Given the description of an element on the screen output the (x, y) to click on. 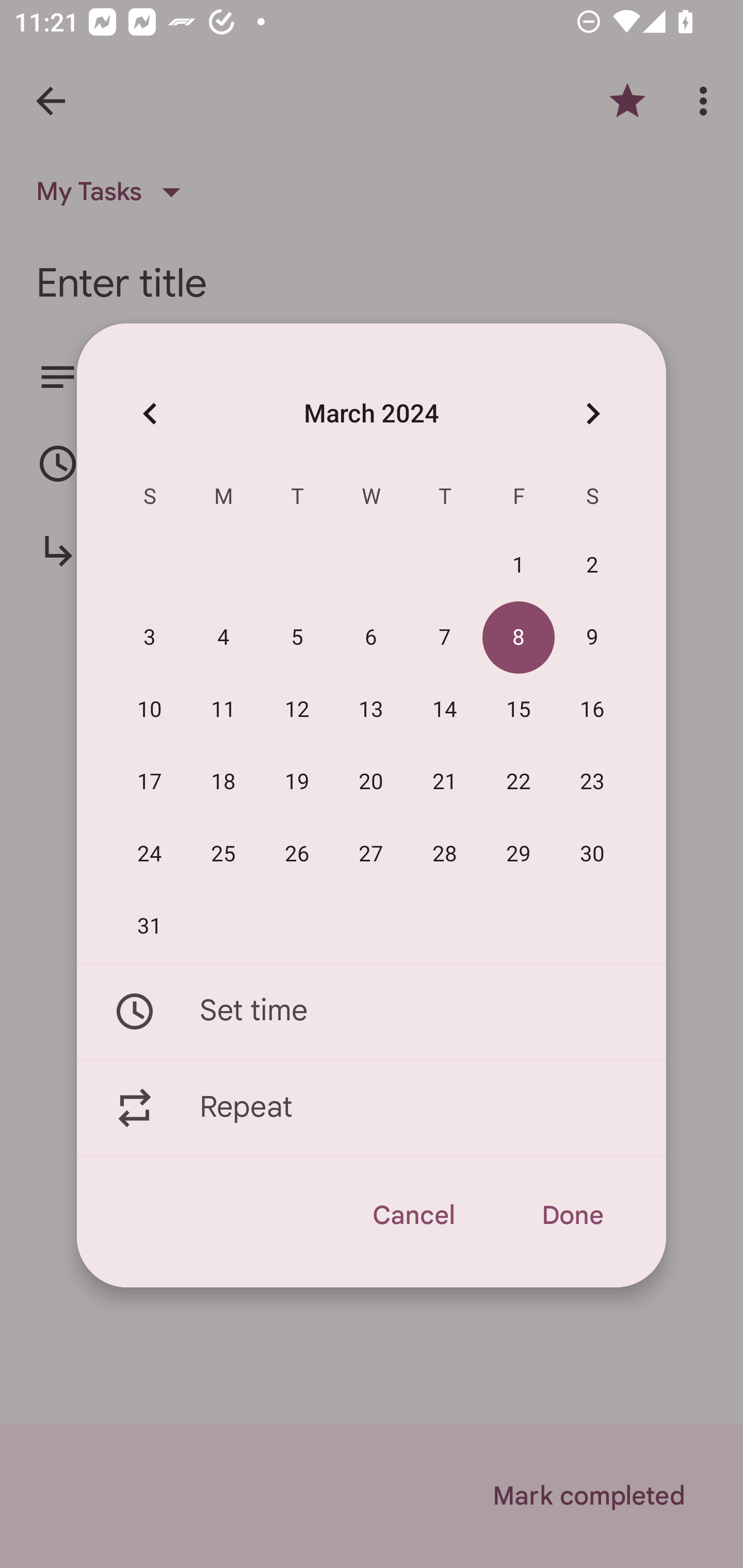
Previous month (149, 413)
Next month (592, 413)
1 01 March 2024 (518, 565)
2 02 March 2024 (592, 565)
3 03 March 2024 (149, 638)
4 04 March 2024 (223, 638)
5 05 March 2024 (297, 638)
6 06 March 2024 (370, 638)
7 07 March 2024 (444, 638)
8 08 March 2024 (518, 638)
9 09 March 2024 (592, 638)
10 10 March 2024 (149, 710)
11 11 March 2024 (223, 710)
12 12 March 2024 (297, 710)
13 13 March 2024 (370, 710)
14 14 March 2024 (444, 710)
15 15 March 2024 (518, 710)
16 16 March 2024 (592, 710)
17 17 March 2024 (149, 782)
18 18 March 2024 (223, 782)
19 19 March 2024 (297, 782)
20 20 March 2024 (370, 782)
21 21 March 2024 (444, 782)
22 22 March 2024 (518, 782)
23 23 March 2024 (592, 782)
24 24 March 2024 (149, 854)
25 25 March 2024 (223, 854)
26 26 March 2024 (297, 854)
27 27 March 2024 (370, 854)
28 28 March 2024 (444, 854)
29 29 March 2024 (518, 854)
30 30 March 2024 (592, 854)
31 31 March 2024 (149, 926)
Set time (371, 1011)
Repeat (371, 1108)
Cancel (412, 1215)
Done (571, 1215)
